Given the description of an element on the screen output the (x, y) to click on. 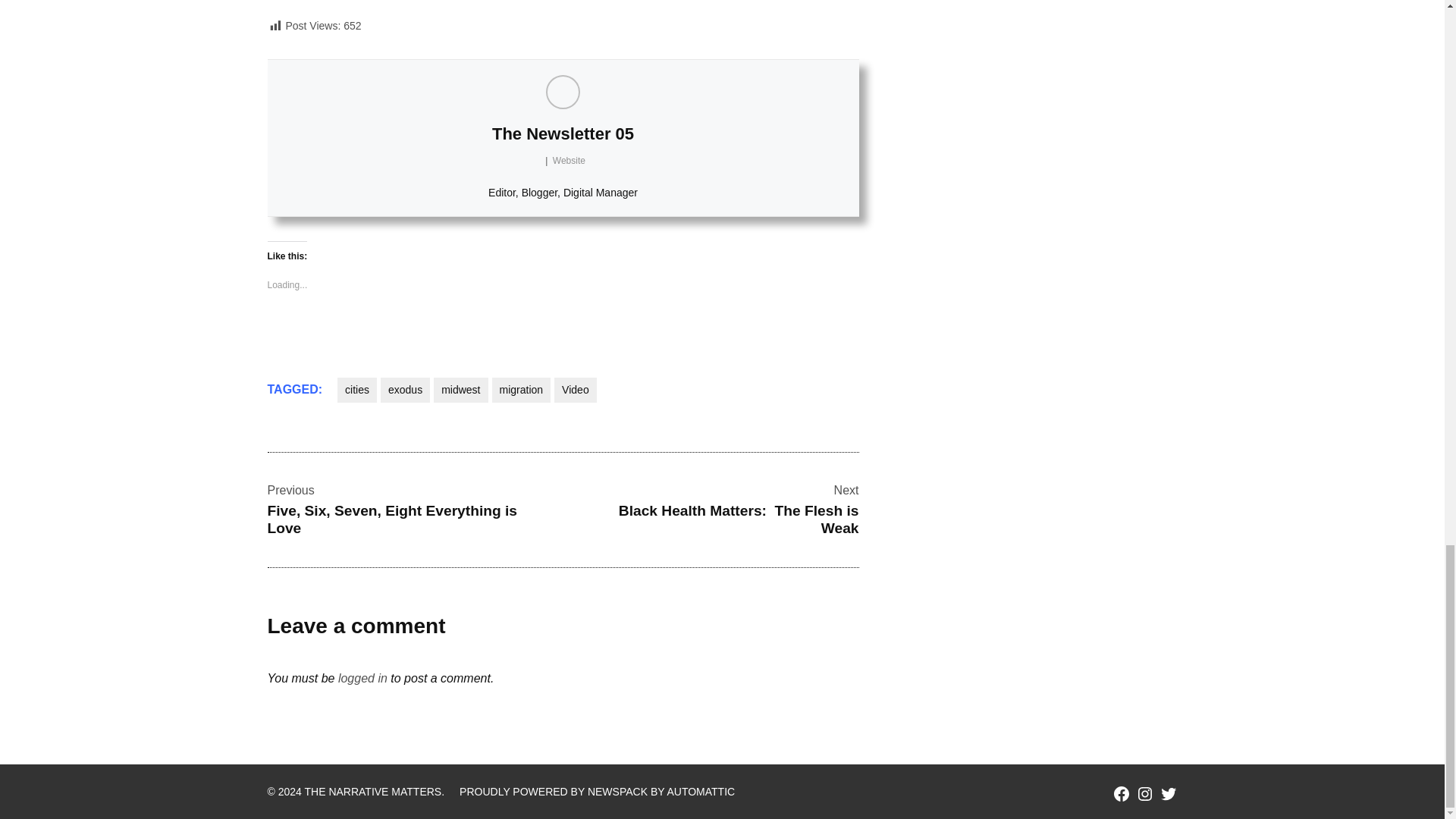
The Newsletter 05 (562, 133)
cities (357, 389)
exodus (404, 389)
midwest (460, 389)
Website (569, 160)
